Given the description of an element on the screen output the (x, y) to click on. 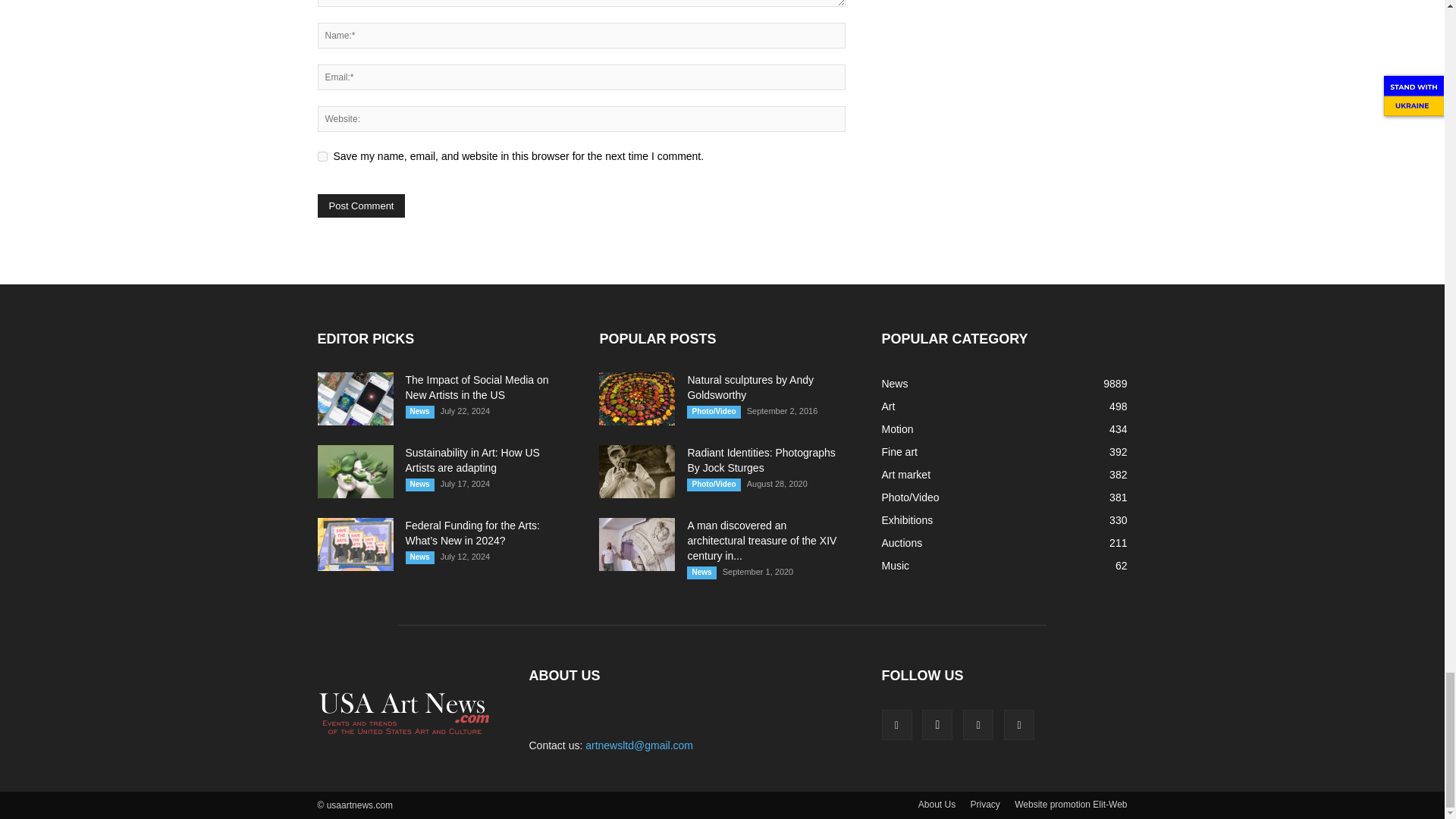
Post Comment (360, 205)
yes (321, 156)
